Given the description of an element on the screen output the (x, y) to click on. 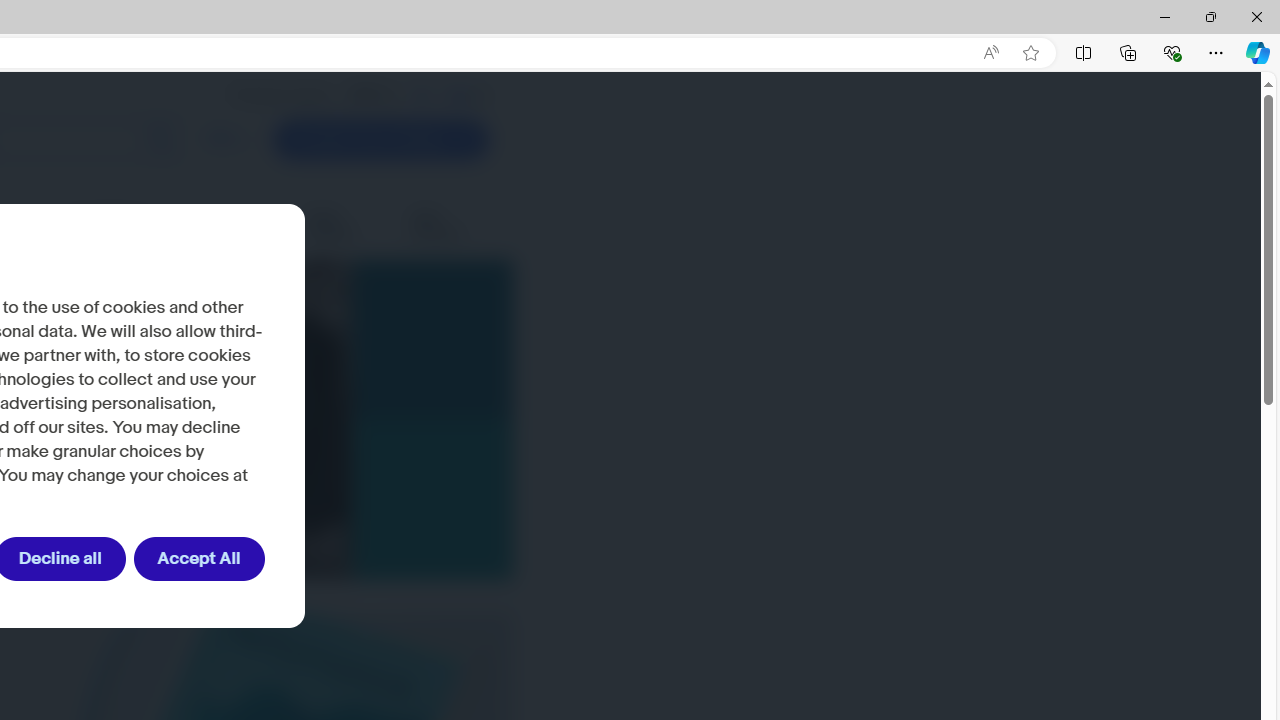
Settings and more (Alt+F) (1215, 52)
Restore (1210, 16)
Close (1256, 16)
Class: search-input__icon (160, 139)
Create Your Listing (380, 139)
Browser essentials (1171, 52)
Accept All (198, 559)
